Given the description of an element on the screen output the (x, y) to click on. 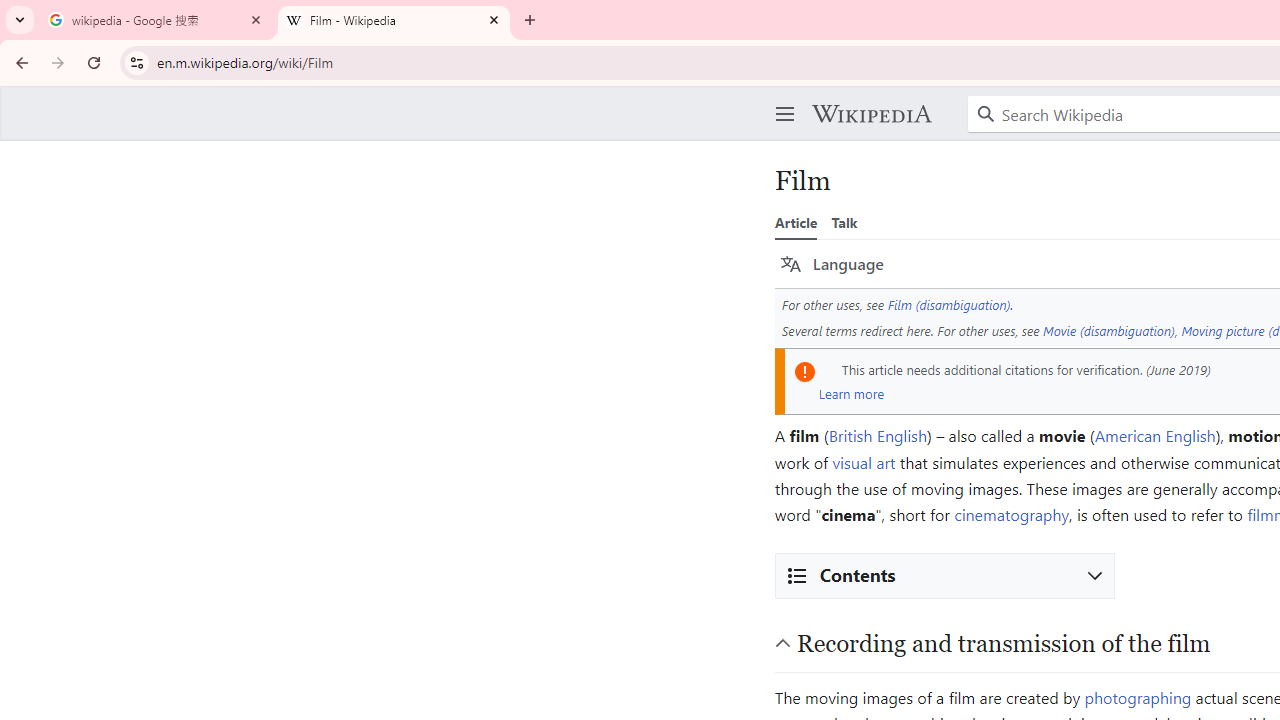
Language (832, 264)
photographing (1137, 696)
AutomationID: main-menu-input (781, 98)
